Given the description of an element on the screen output the (x, y) to click on. 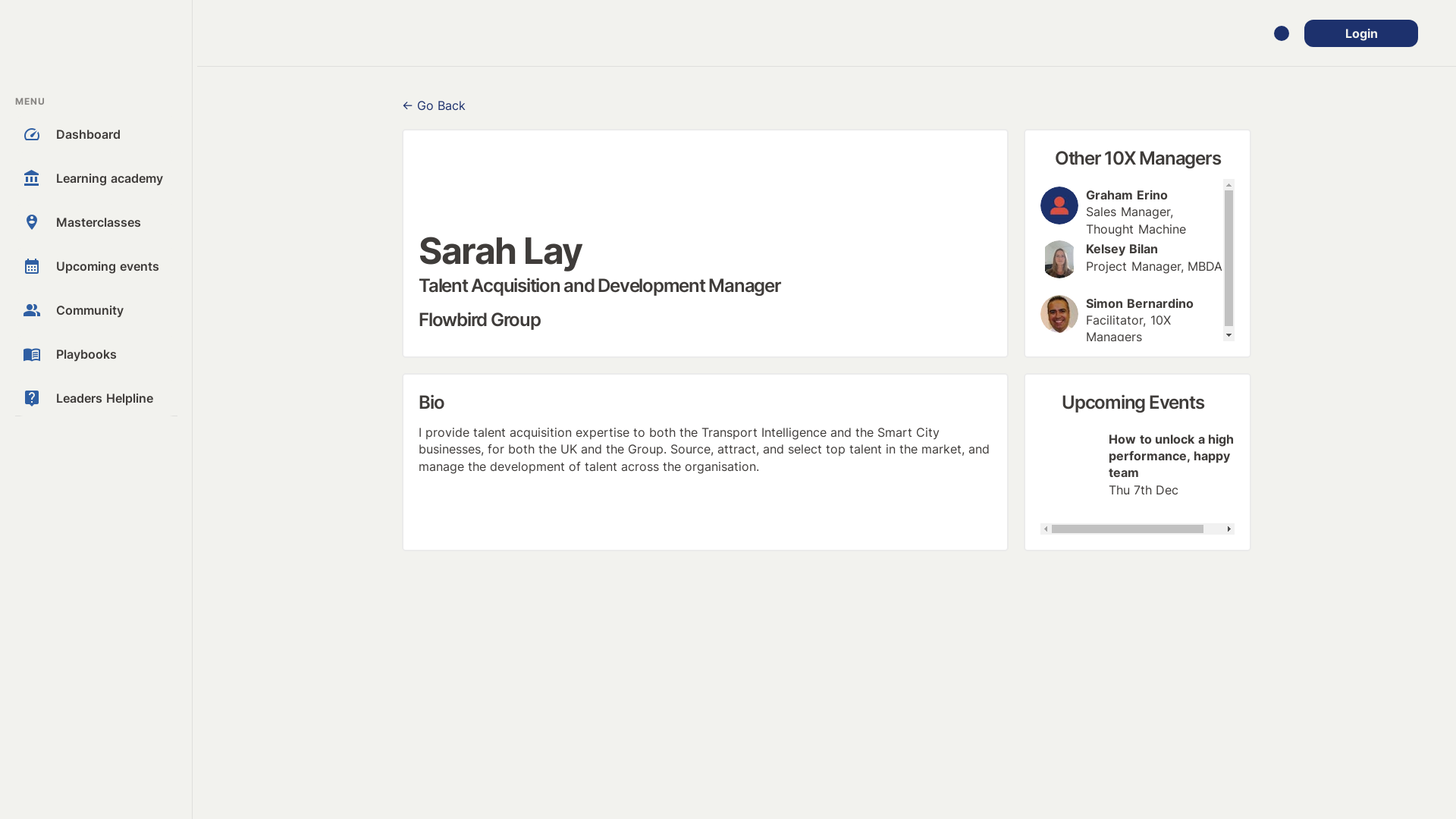
Login Element type: text (1361, 33)
live_help Element type: text (31, 397)
Playbooks Element type: text (112, 354)
speed Element type: text (31, 134)
people_alt Element type: text (31, 309)
Community Element type: text (112, 310)
Upcoming events Element type: text (112, 266)
menu_book Element type: text (31, 353)
account_balance Element type: text (31, 178)
person_pin_circle Element type: text (31, 221)
Masterclasses Element type: text (112, 222)
Leaders Helpline Element type: text (112, 398)
Learning academy Element type: text (112, 178)
calendar_month Element type: text (31, 265)
Dashboard Element type: text (112, 134)
How to unlock a high performance, happy team Element type: text (1171, 455)
